Given the description of an element on the screen output the (x, y) to click on. 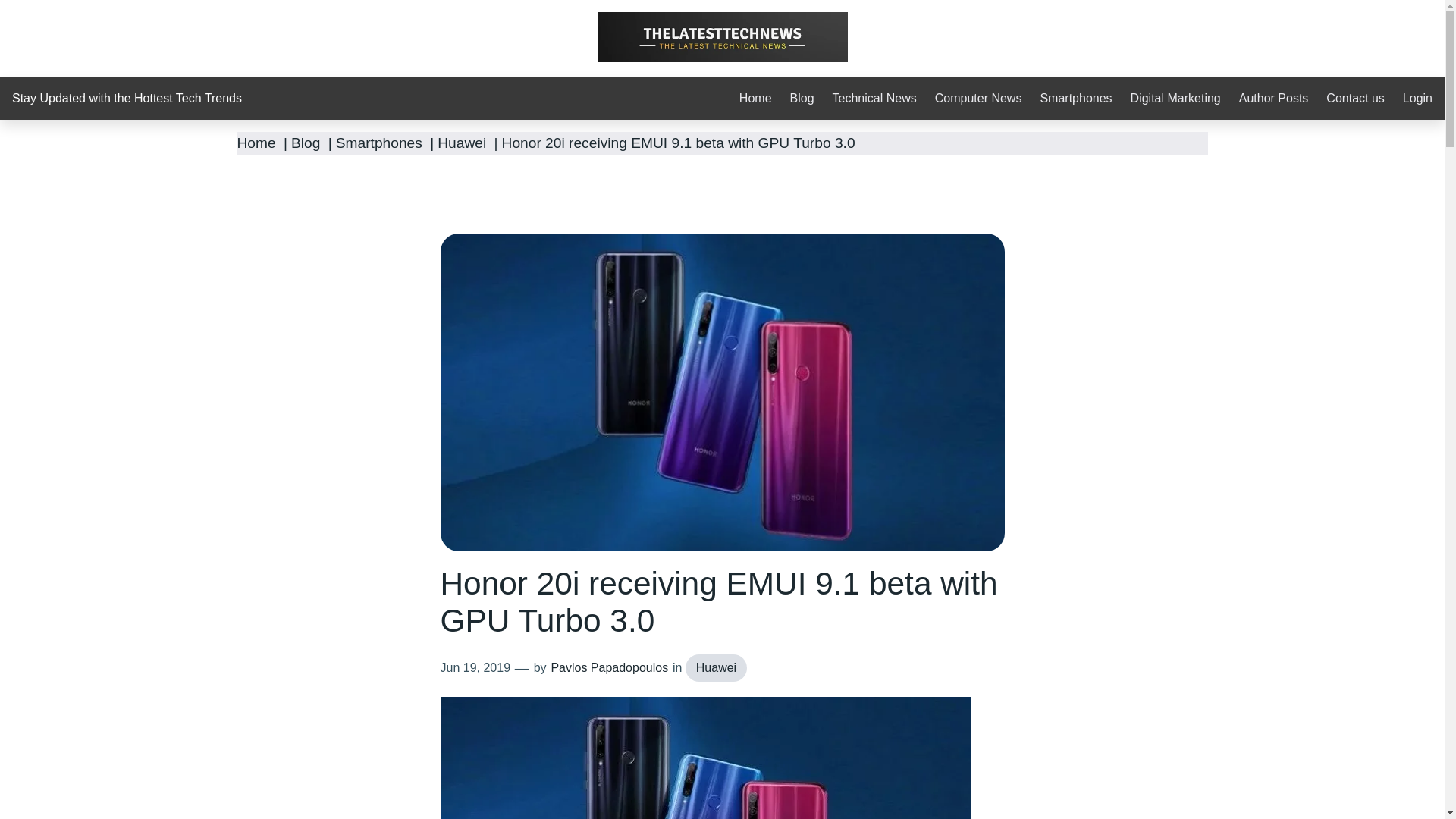
Digital Marketing (1176, 98)
Login (1417, 98)
Contact us (1355, 98)
Huawei (462, 142)
Computer Technology News (978, 98)
Computer News (978, 98)
Blog (305, 142)
Author Posts (1273, 98)
Smartphones News (1075, 98)
Login (1417, 98)
